Given the description of an element on the screen output the (x, y) to click on. 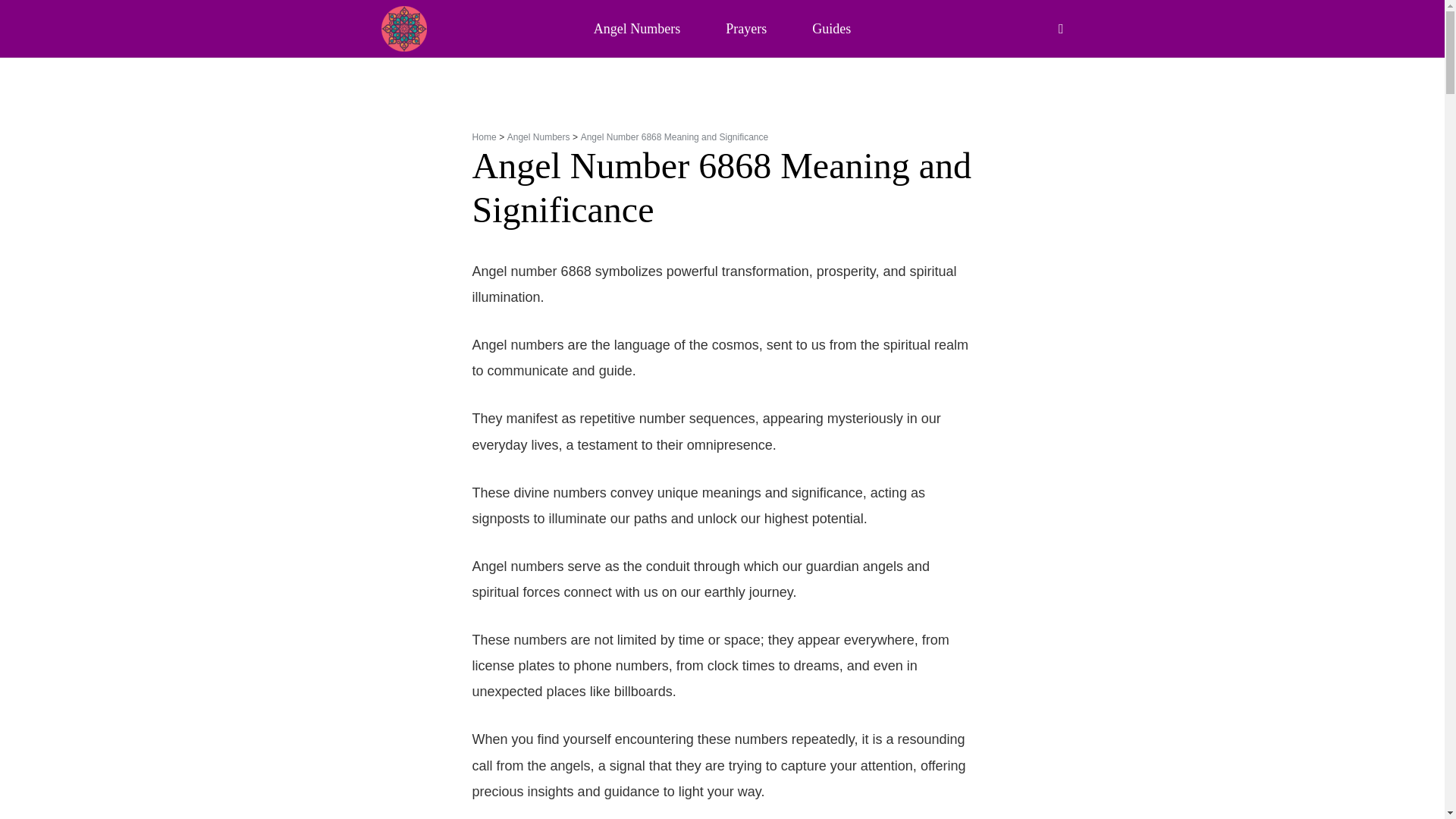
Home (483, 136)
Prayers (746, 28)
Guides (831, 28)
Angel Numbers (636, 28)
Angel Numbers (538, 136)
